Given the description of an element on the screen output the (x, y) to click on. 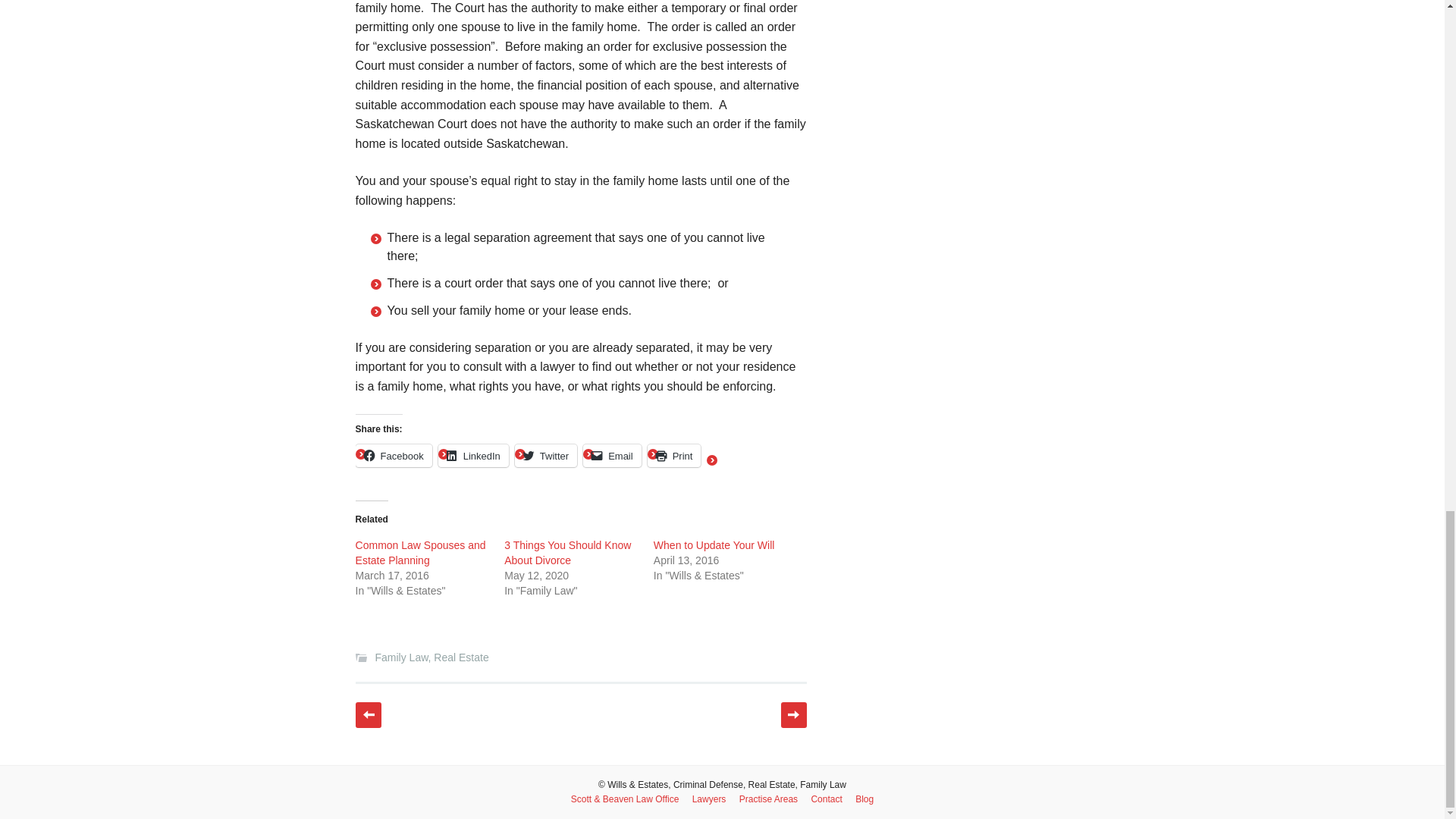
When to Update Your Will (713, 544)
Common Law Spouses and Estate Planning (420, 552)
Click to email a link to a friend (612, 455)
3 Things You Should Know About Divorce (566, 552)
Twitter (545, 455)
Click to share on Facebook (393, 455)
Email (612, 455)
Common Law Spouses and Estate Planning (420, 552)
Print (674, 455)
Click to share on LinkedIn (473, 455)
Family Law (401, 657)
Click to share on Twitter (545, 455)
LinkedIn (473, 455)
Real Estate (460, 657)
When to Update Your Will (713, 544)
